Given the description of an element on the screen output the (x, y) to click on. 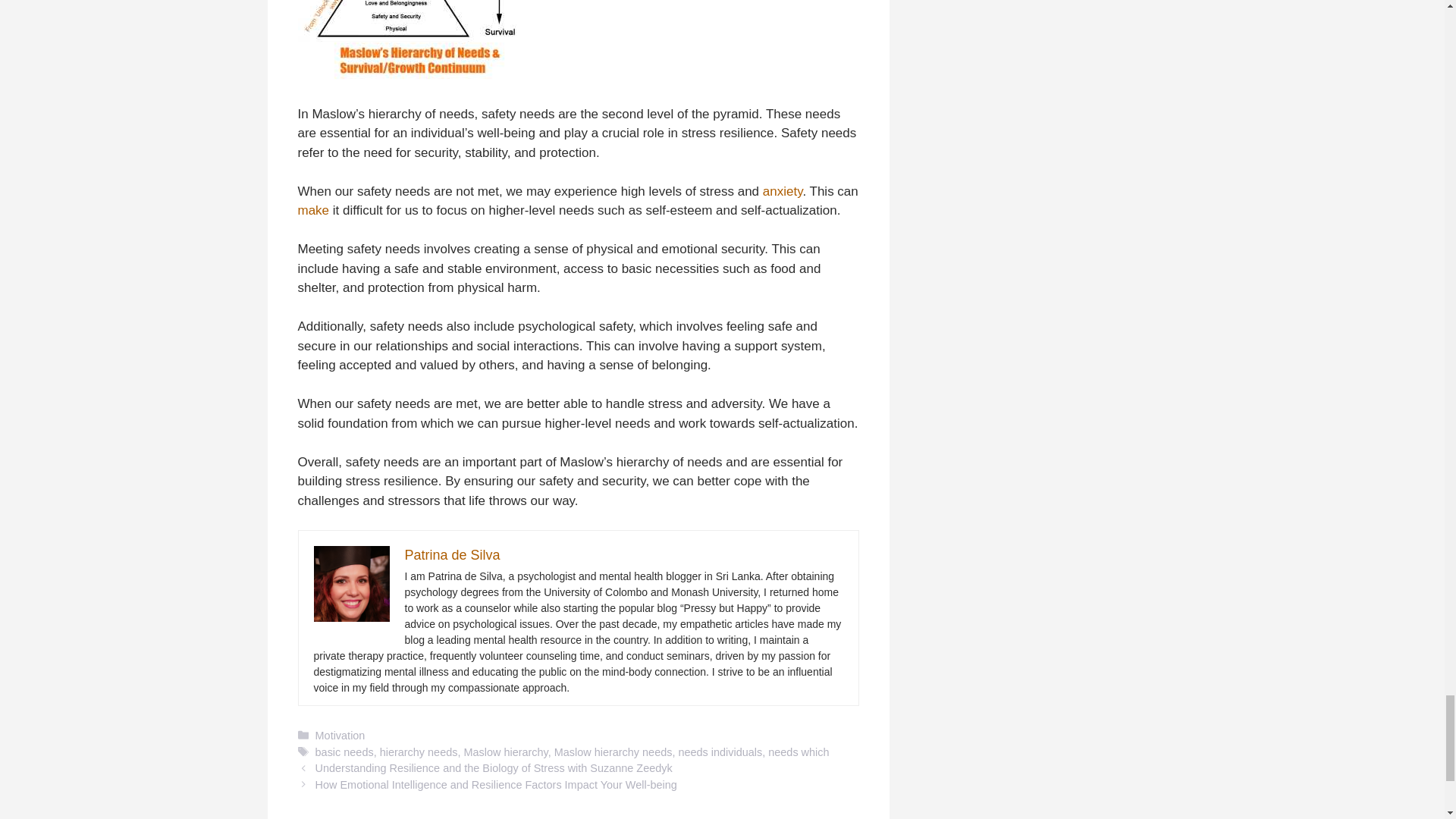
Patrina de Silva (452, 554)
basic needs (344, 752)
make (313, 210)
hierarchy needs (419, 752)
Maslow hierarchy (505, 752)
Maslow hierarchy needs (613, 752)
needs individuals (719, 752)
Motivation (340, 735)
needs which (798, 752)
